Given the description of an element on the screen output the (x, y) to click on. 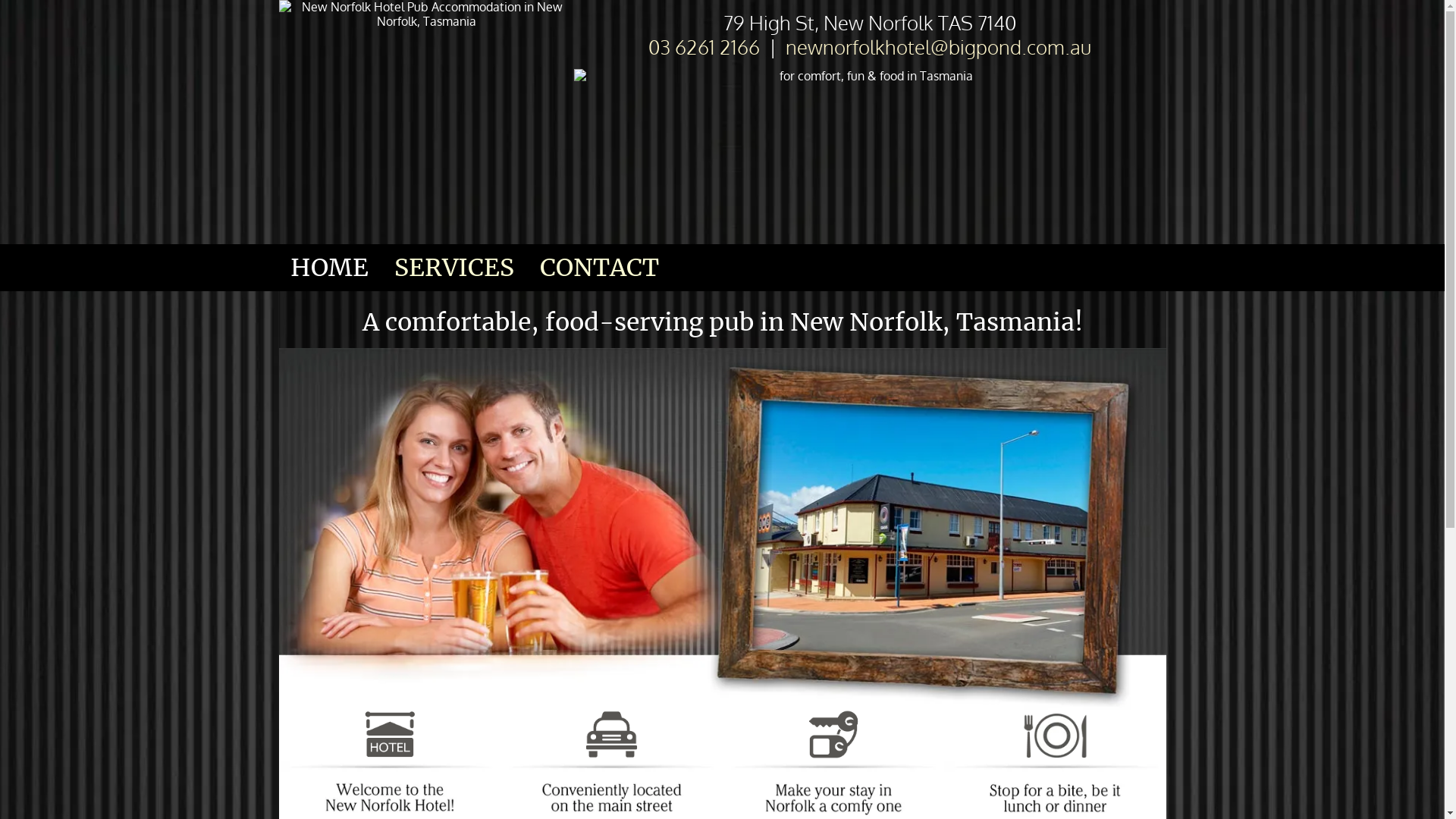
SERVICES Element type: text (454, 267)
03 6261 2166 Element type: text (703, 46)
homely comfort at excellent rates,- in New Norfolk, Tasmania Element type: hover (390, 735)
HOME Element type: text (328, 267)
New Norfolk Hotel Tasmania for great fun and food Element type: hover (722, 528)
for comfort, fun & food in Tasmania Element type: hover (869, 142)
CONTACT Element type: text (598, 267)
pub accommodation New Norfolk Tasmania Element type: hover (611, 735)
newnorfolkhotel@bigpond.com.au Element type: text (938, 46)
New Norfolk Hotel Pub Accommodation in New Norfolk, Tasmania Element type: hover (426, 122)
pub accommodation New Norfolk Hotel Element type: hover (832, 735)
